Given the description of an element on the screen output the (x, y) to click on. 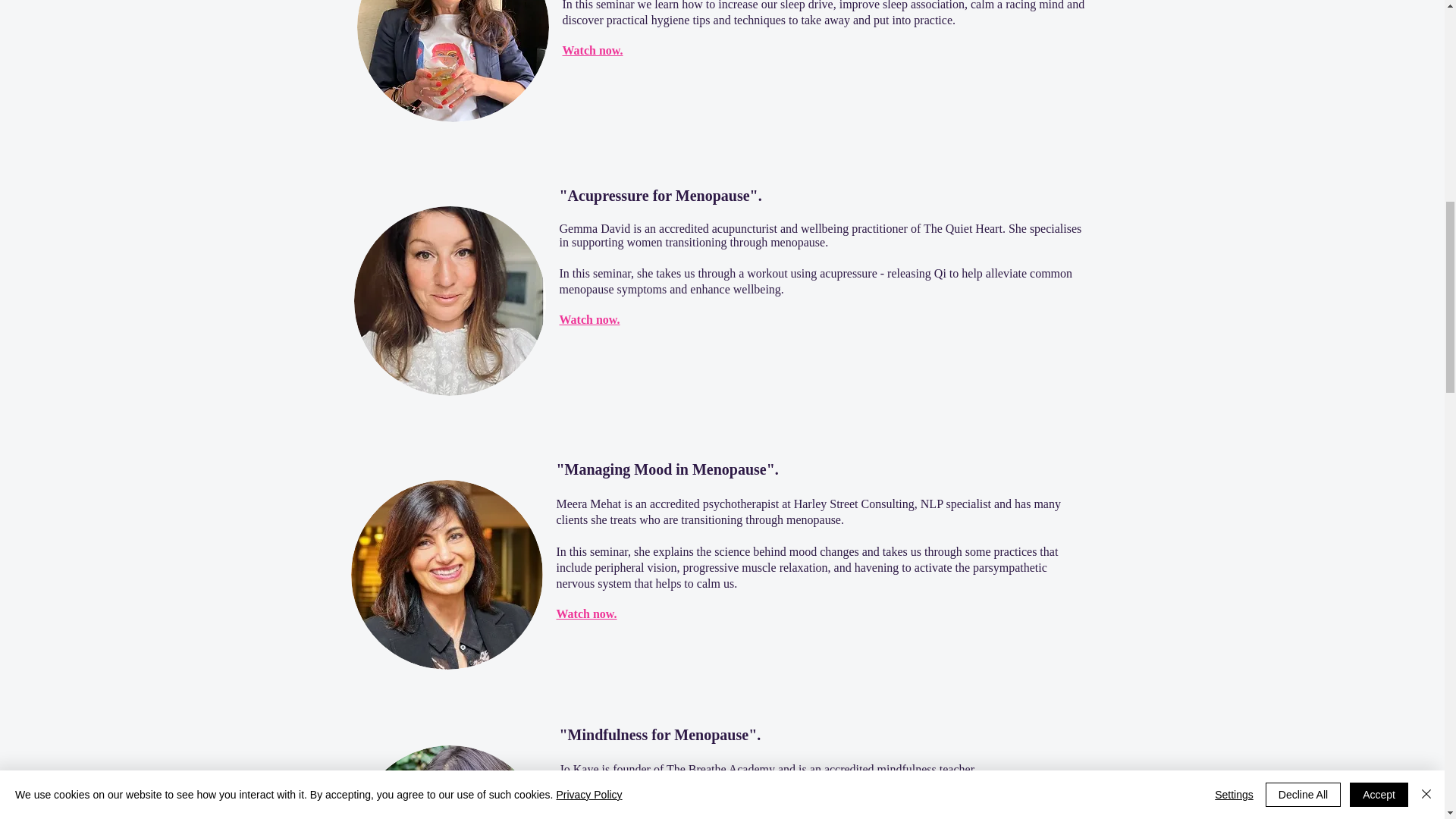
Watch now. (589, 318)
Watch now. (592, 50)
Watch now. (586, 613)
